Given the description of an element on the screen output the (x, y) to click on. 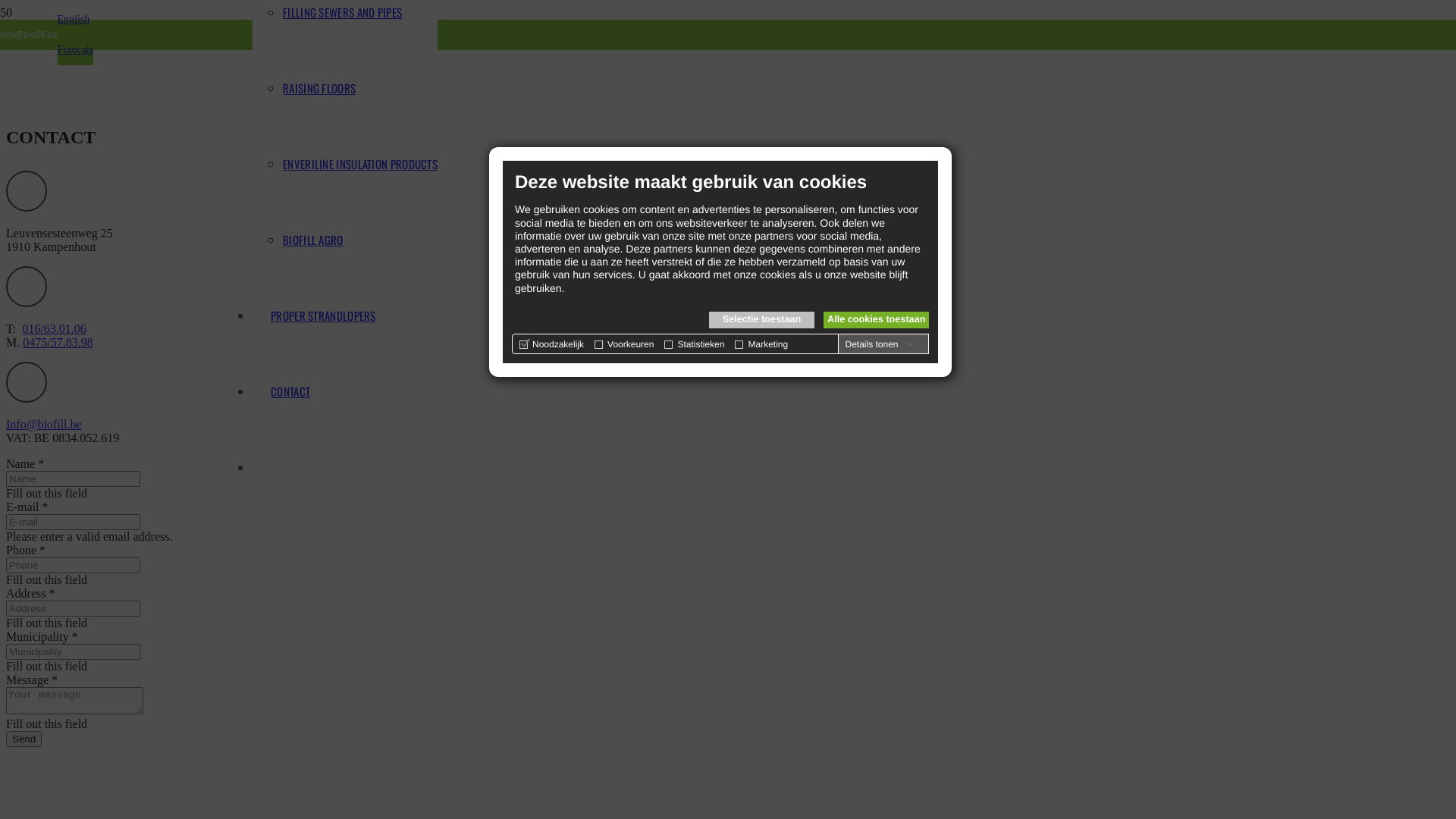
BIOFILL AGRO Element type: text (312, 239)
Selectie toestaan Element type: text (761, 319)
RAISING FLOORS Element type: text (318, 87)
Send Element type: text (23, 738)
016/63.01.06 Element type: text (53, 328)
Details tonen Element type: text (878, 344)
FILLING SEWERS AND PIPES Element type: text (341, 11)
ENVERILINE INSULATION PRODUCTS Element type: text (359, 163)
Alle cookies toestaan Element type: text (875, 319)
PROPER STRANDLOPERS Element type: text (323, 315)
English Element type: text (73, 19)
0475/57.83.98 Element type: text (57, 341)
Info@biofill.be Element type: text (43, 423)
CONTACT Element type: text (290, 390)
